Given the description of an element on the screen output the (x, y) to click on. 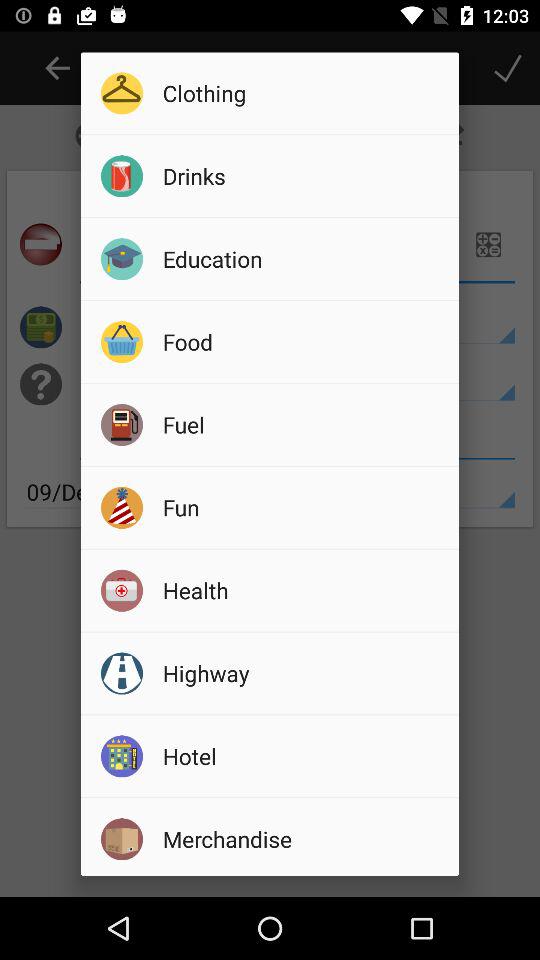
choose the fuel icon (303, 424)
